Given the description of an element on the screen output the (x, y) to click on. 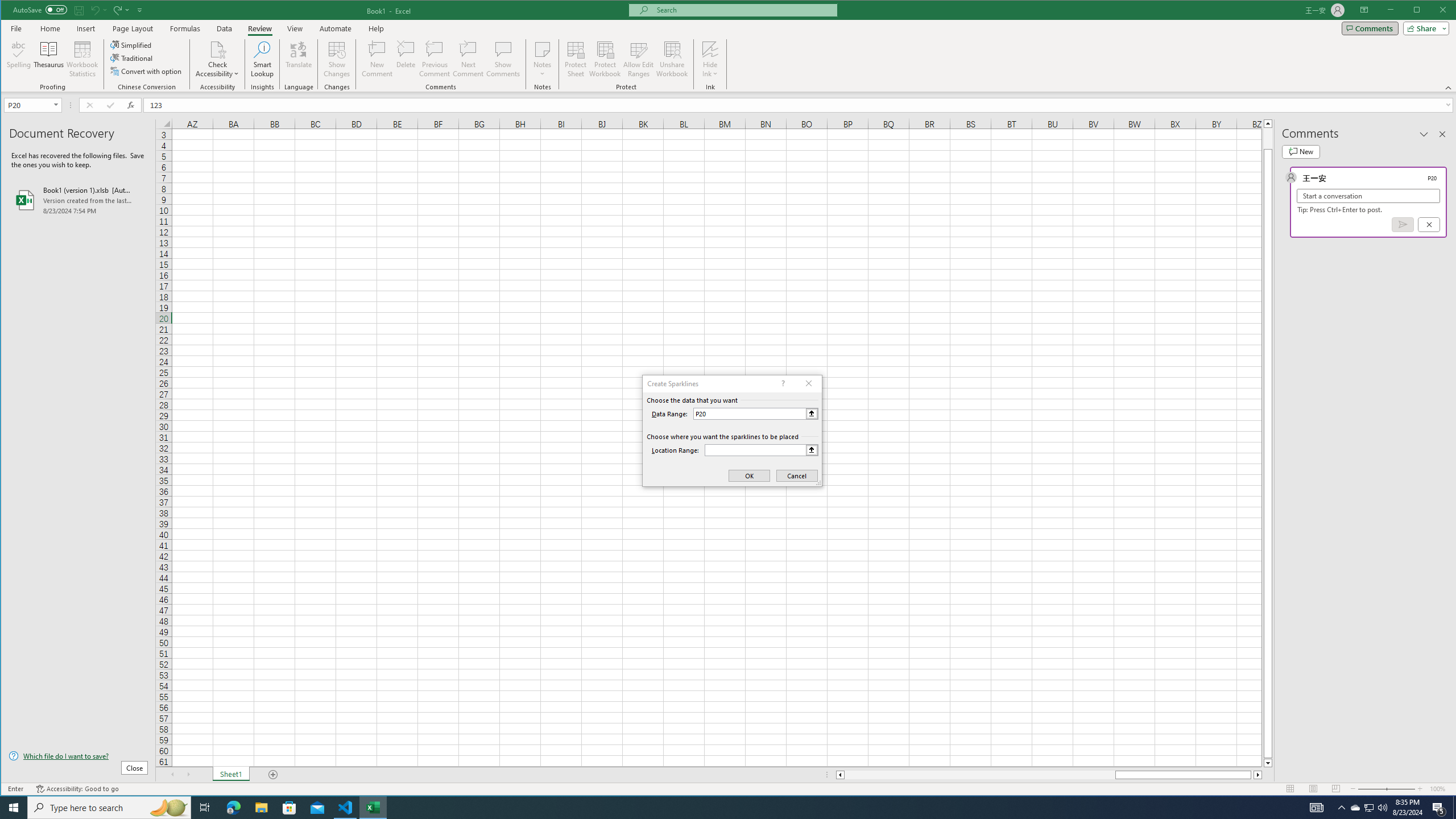
Protect Workbook... (604, 59)
